Given the description of an element on the screen output the (x, y) to click on. 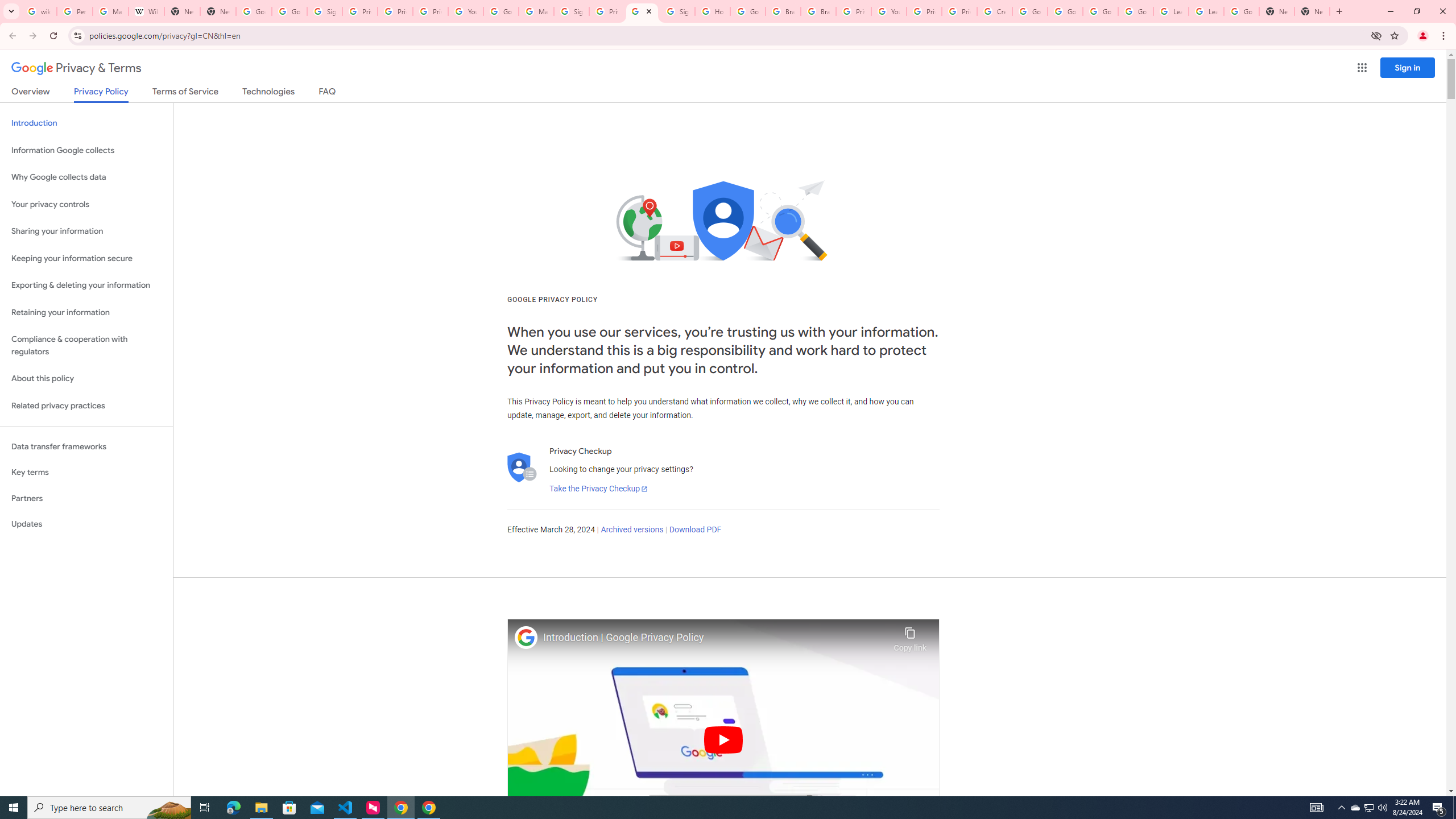
New Tab (1312, 11)
